Given the description of an element on the screen output the (x, y) to click on. 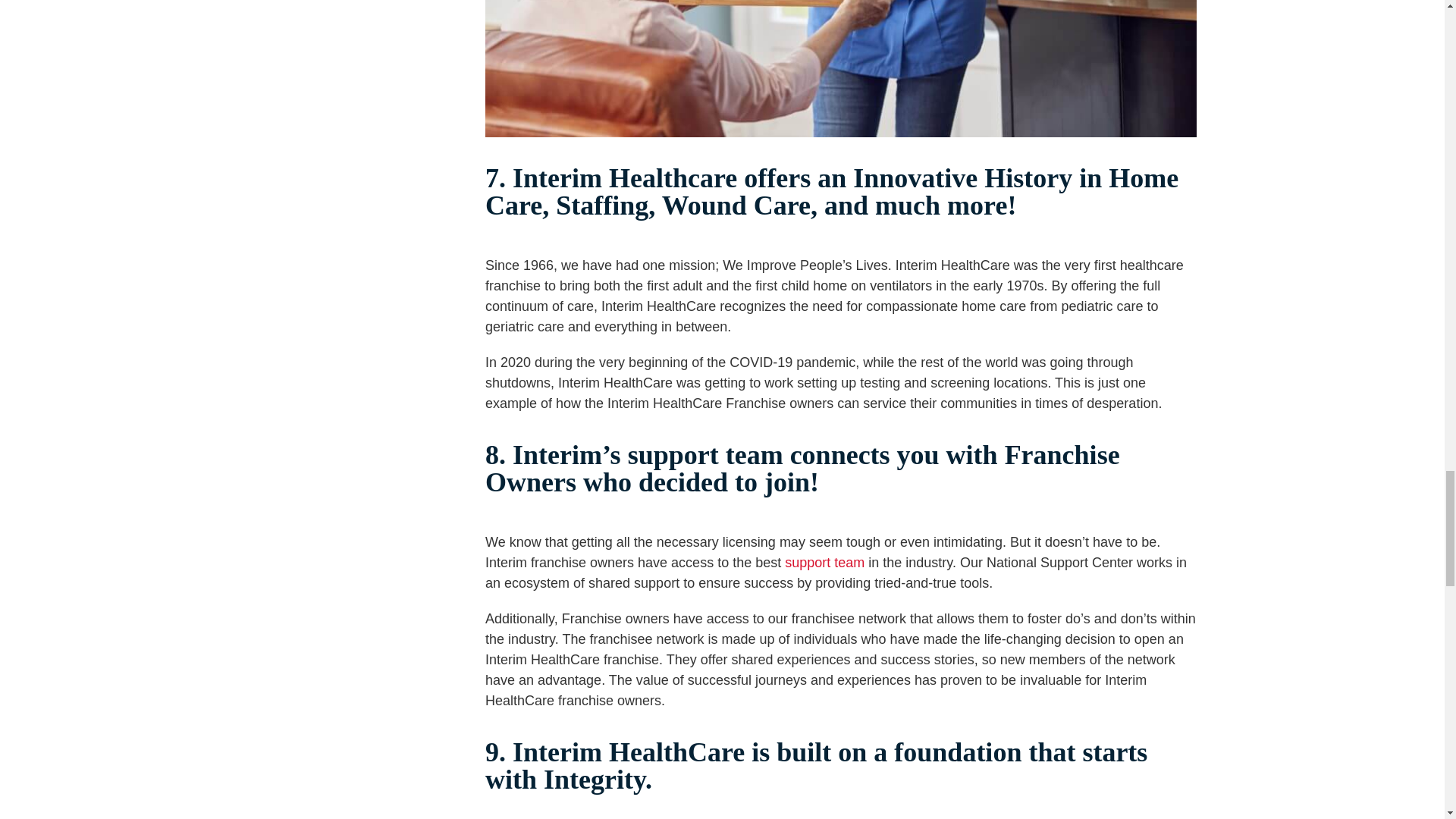
support team (824, 562)
